Given the description of an element on the screen output the (x, y) to click on. 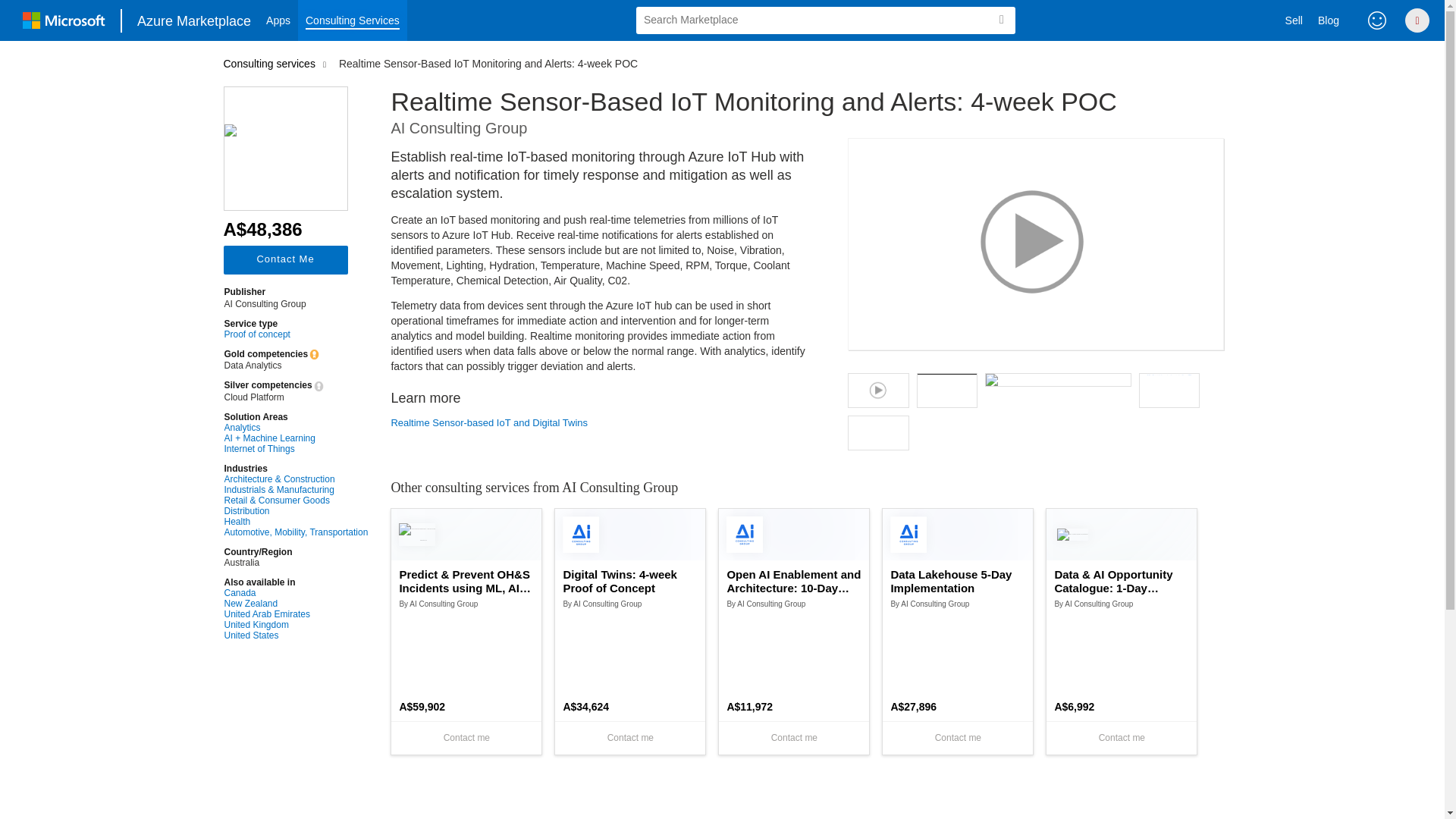
Digital Twins: 4-week Proof of Concept (629, 581)
Open AI Enablement and Architecture: 10-Day PoC (793, 581)
Feedback (1377, 20)
Blog (1328, 20)
Data Lakehouse 5-Day Implementation (957, 581)
Azure Marketplace (194, 20)
Consulting Services (352, 20)
Search  (1001, 19)
Search (1001, 19)
